Given the description of an element on the screen output the (x, y) to click on. 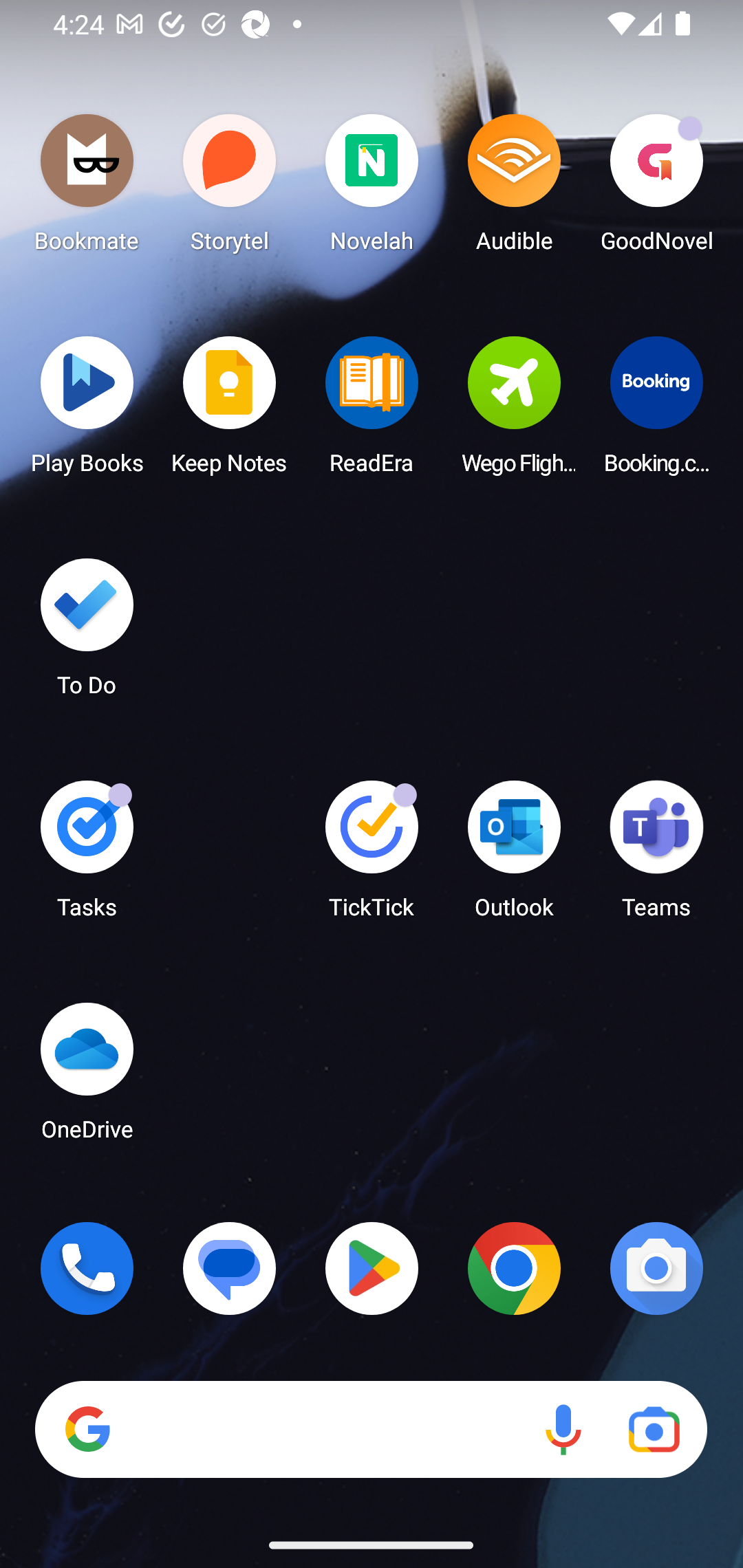
Bookmate (86, 188)
Storytel (229, 188)
Novelah (371, 188)
Audible (513, 188)
GoodNovel GoodNovel has 1 notification (656, 188)
Play Books (86, 410)
Keep Notes (229, 410)
ReadEra (371, 410)
Wego Flights & Hotels (513, 410)
Booking.com (656, 410)
To Do (86, 633)
Tasks Tasks has 1 notification (86, 854)
TickTick TickTick has 3 notifications (371, 854)
Outlook (513, 854)
Teams (656, 854)
OneDrive (86, 1076)
Phone (86, 1268)
Messages (229, 1268)
Play Store (371, 1268)
Chrome (513, 1268)
Camera (656, 1268)
Search Voice search Google Lens (370, 1429)
Voice search (562, 1429)
Google Lens (653, 1429)
